Given the description of an element on the screen output the (x, y) to click on. 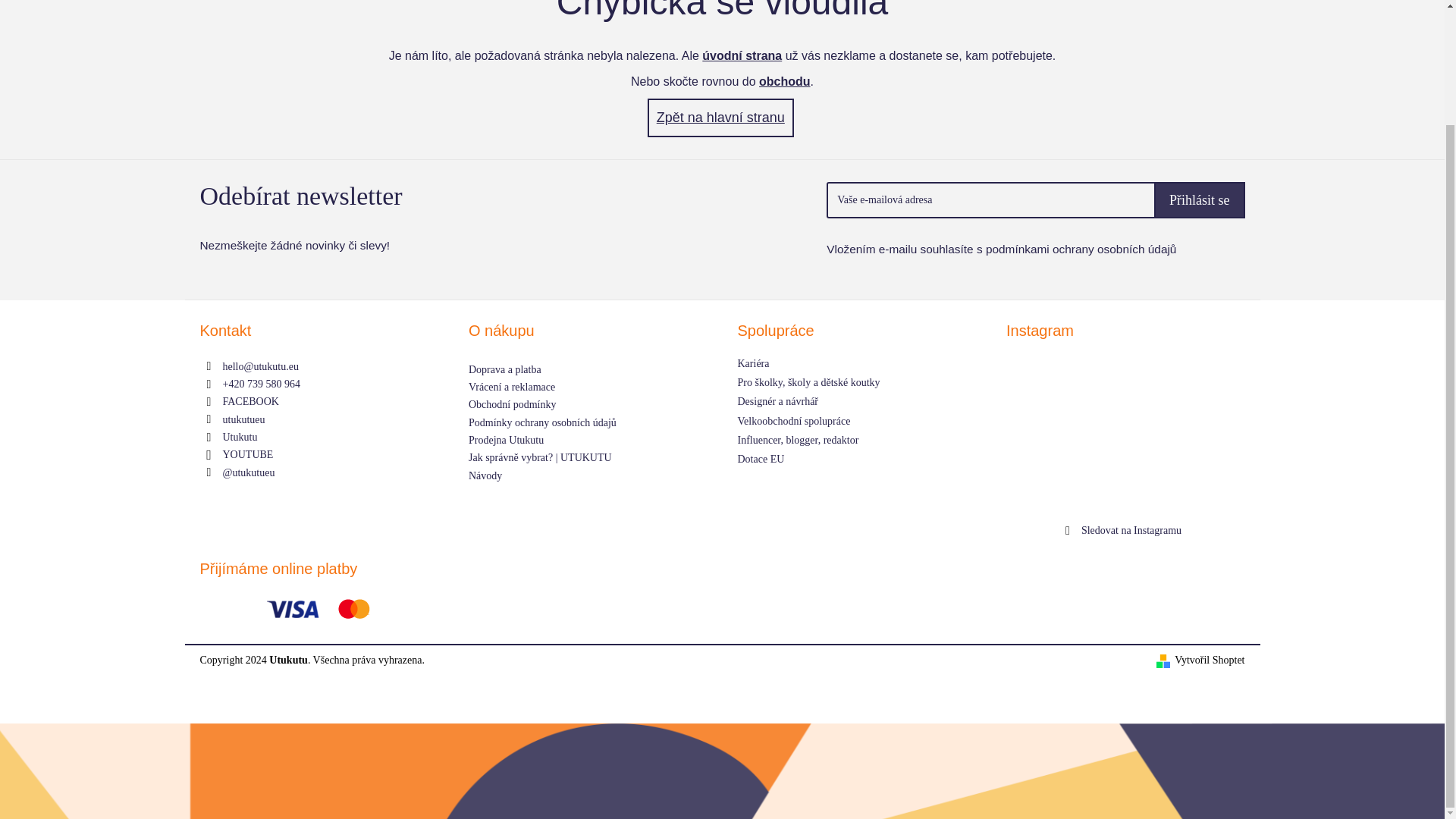
TikTok (248, 472)
Instagram (243, 419)
obchodu (784, 81)
YouTube (247, 454)
Facebook (250, 401)
Facebook Messenger (239, 437)
Telefon (260, 383)
